Given the description of an element on the screen output the (x, y) to click on. 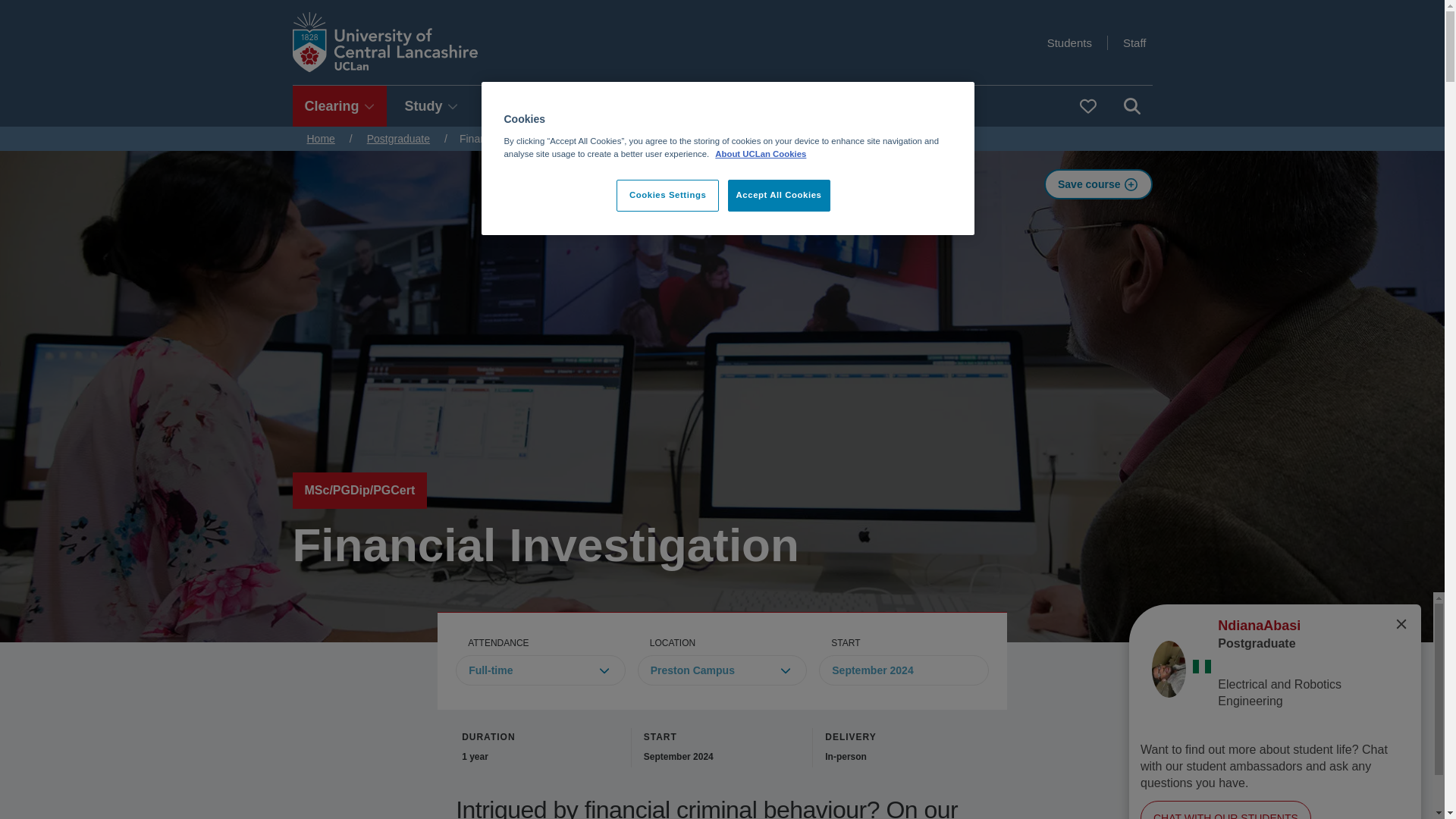
Staff (1134, 42)
About UCLan Cookies (760, 153)
Clearing (339, 105)
Accept All Cookies (778, 195)
Cookies Settings (667, 195)
Students (1069, 42)
Study (431, 105)
